Given the description of an element on the screen output the (x, y) to click on. 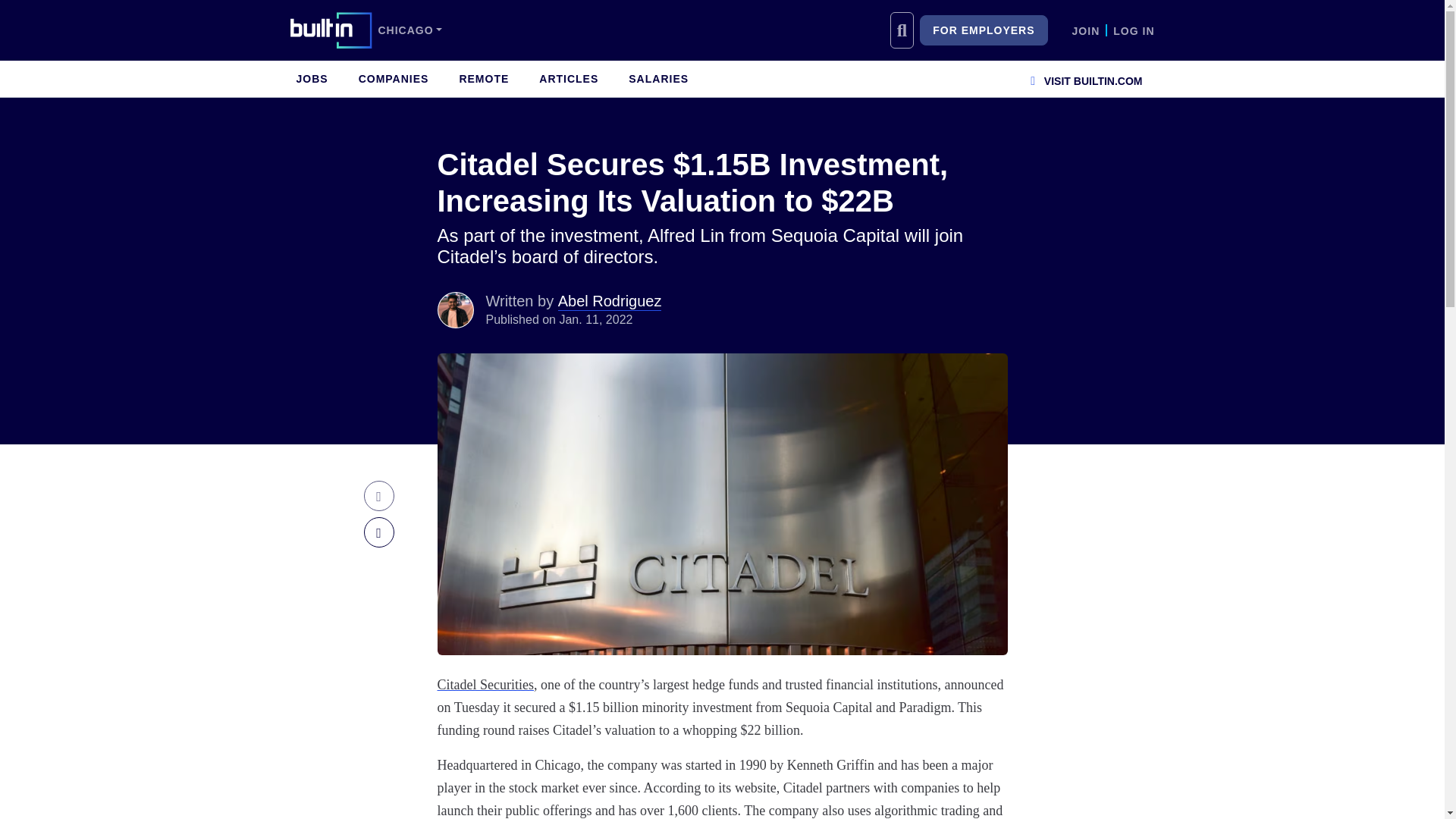
FOR EMPLOYERS (983, 30)
Abel Rodriguez (455, 309)
CHICAGO (409, 30)
JOIN (1085, 30)
